Given the description of an element on the screen output the (x, y) to click on. 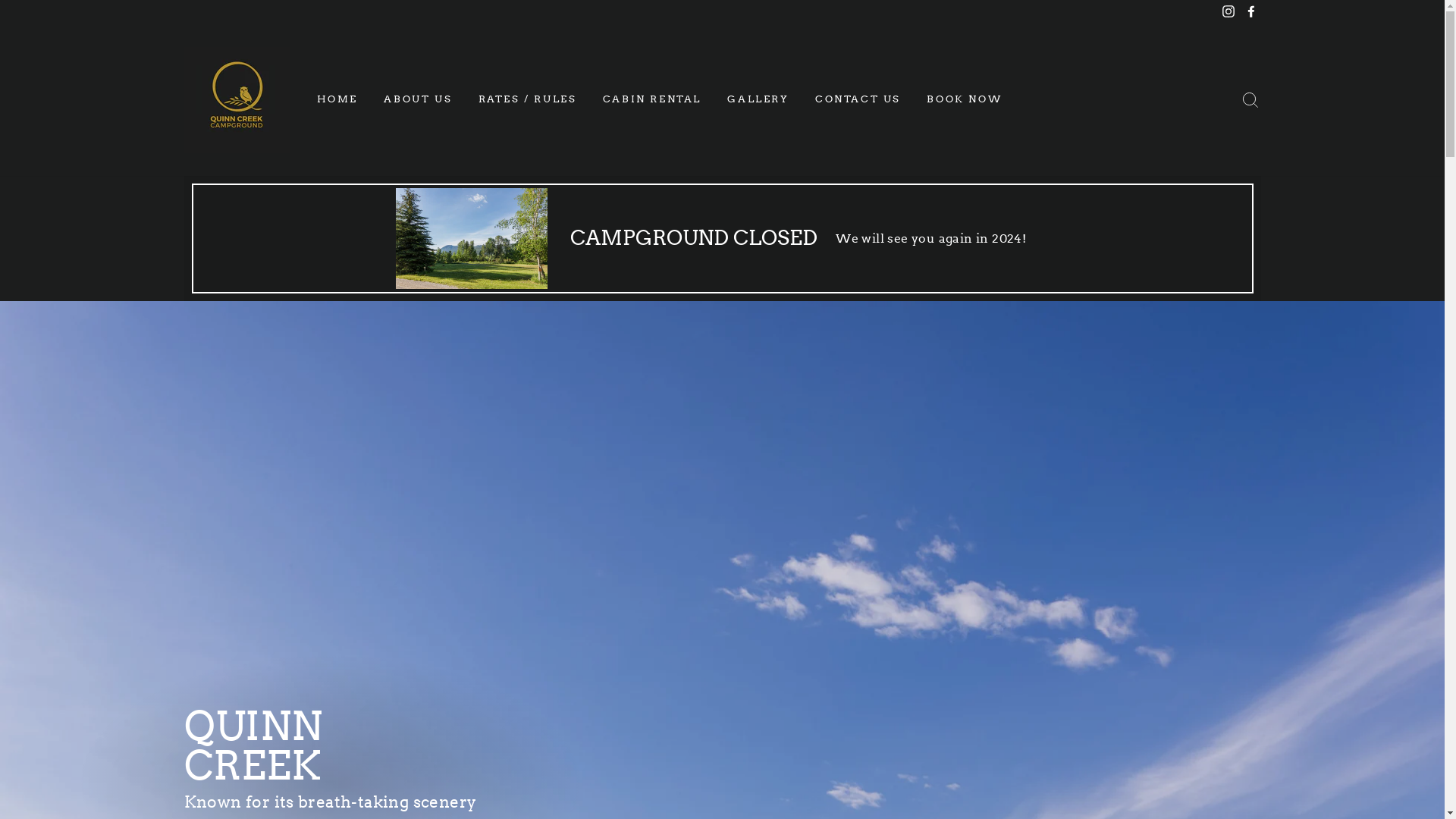
CABIN RENTAL Element type: text (651, 99)
Skip to content Element type: text (0, 0)
BOOK NOW Element type: text (964, 99)
GALLERY Element type: text (757, 99)
Instagram Element type: text (1228, 12)
Facebook Element type: text (1250, 12)
ABOUT US Element type: text (417, 99)
CONTACT US Element type: text (857, 99)
SEARCH Element type: text (1249, 99)
HOME Element type: text (336, 99)
RATES / RULES Element type: text (527, 99)
CAMPGROUND CLOSED We will see you again in 2024! Element type: text (721, 238)
